Given the description of an element on the screen output the (x, y) to click on. 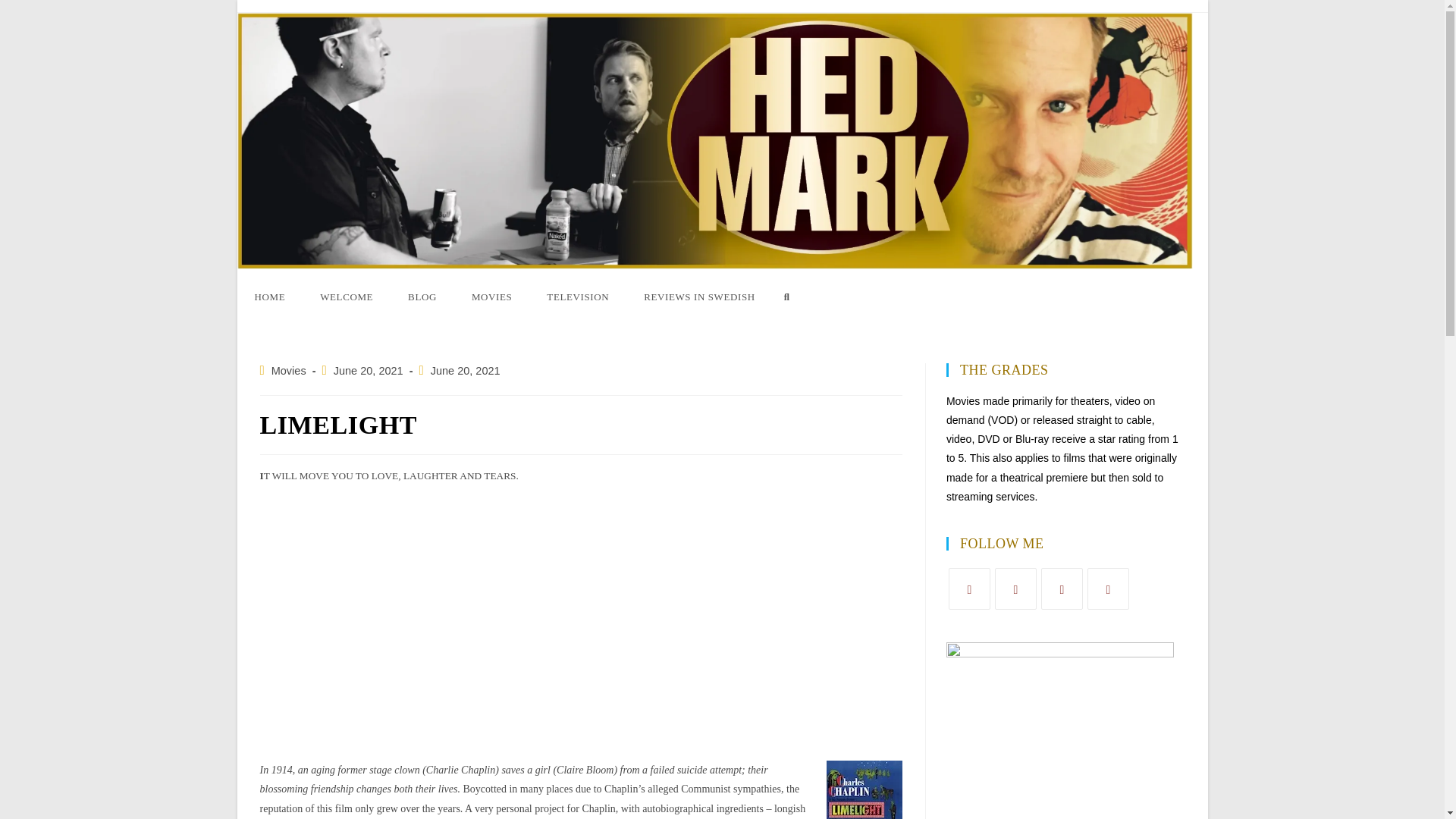
BLOG (422, 297)
HOME (268, 297)
REVIEWS IN SWEDISH (699, 297)
MOVIES (491, 297)
WELCOME (346, 297)
TELEVISION (577, 297)
